Given the description of an element on the screen output the (x, y) to click on. 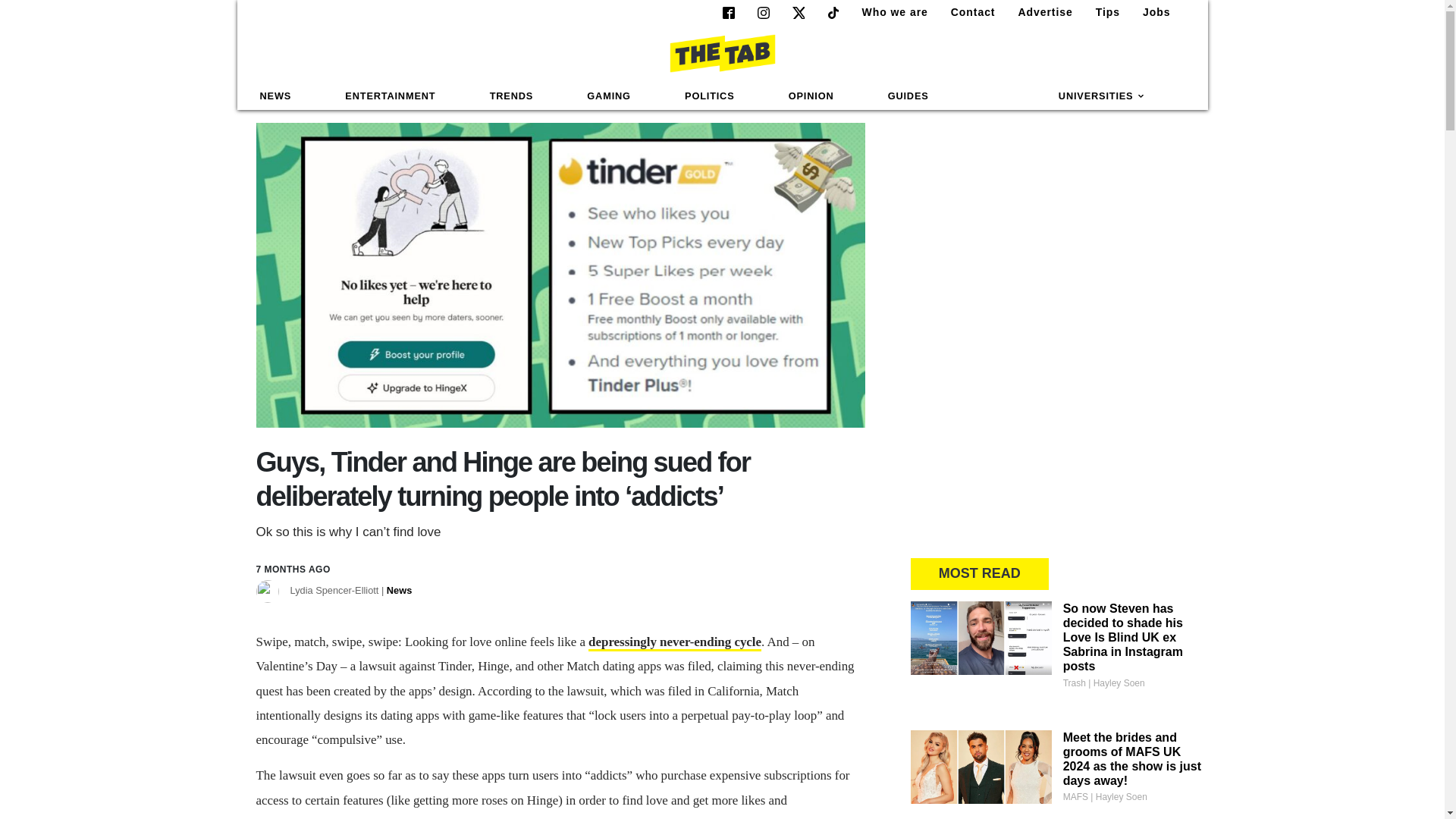
OPINION (811, 96)
TRENDS (511, 96)
Contact (967, 11)
UNIVERSITIES (1101, 96)
ENTERTAINMENT (389, 96)
Posts by Lydia Spencer-Elliott (350, 591)
Tips (1101, 11)
Advertise (1038, 11)
NEWS (275, 96)
POLITICS (708, 96)
